Given the description of an element on the screen output the (x, y) to click on. 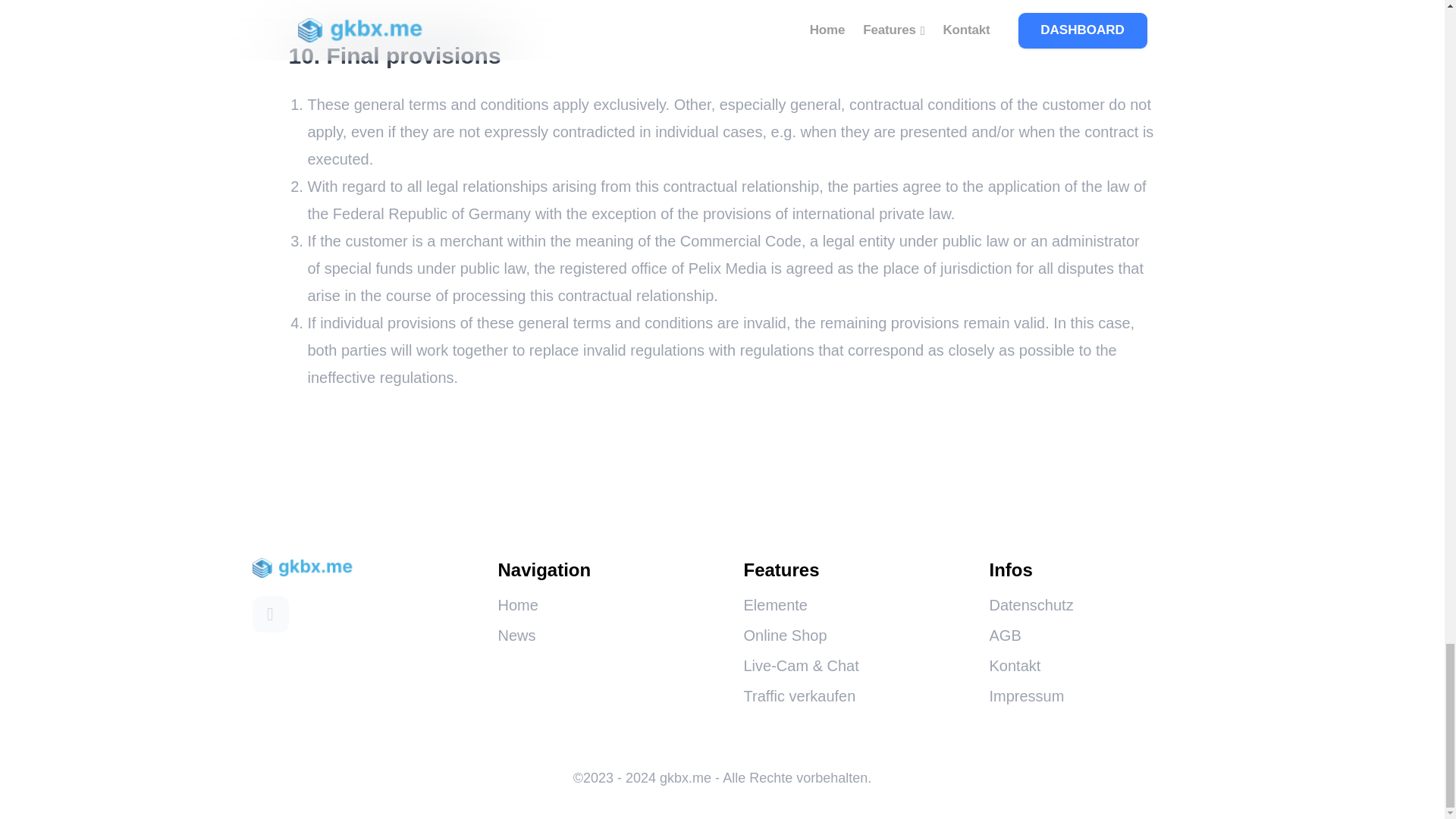
Datenschutz (1030, 605)
Elemente (775, 605)
Kontakt (1014, 665)
Online Shop (784, 635)
AGB (1004, 635)
News (516, 635)
Home (517, 605)
Impressum (1026, 695)
Traffic verkaufen (799, 695)
